Given the description of an element on the screen output the (x, y) to click on. 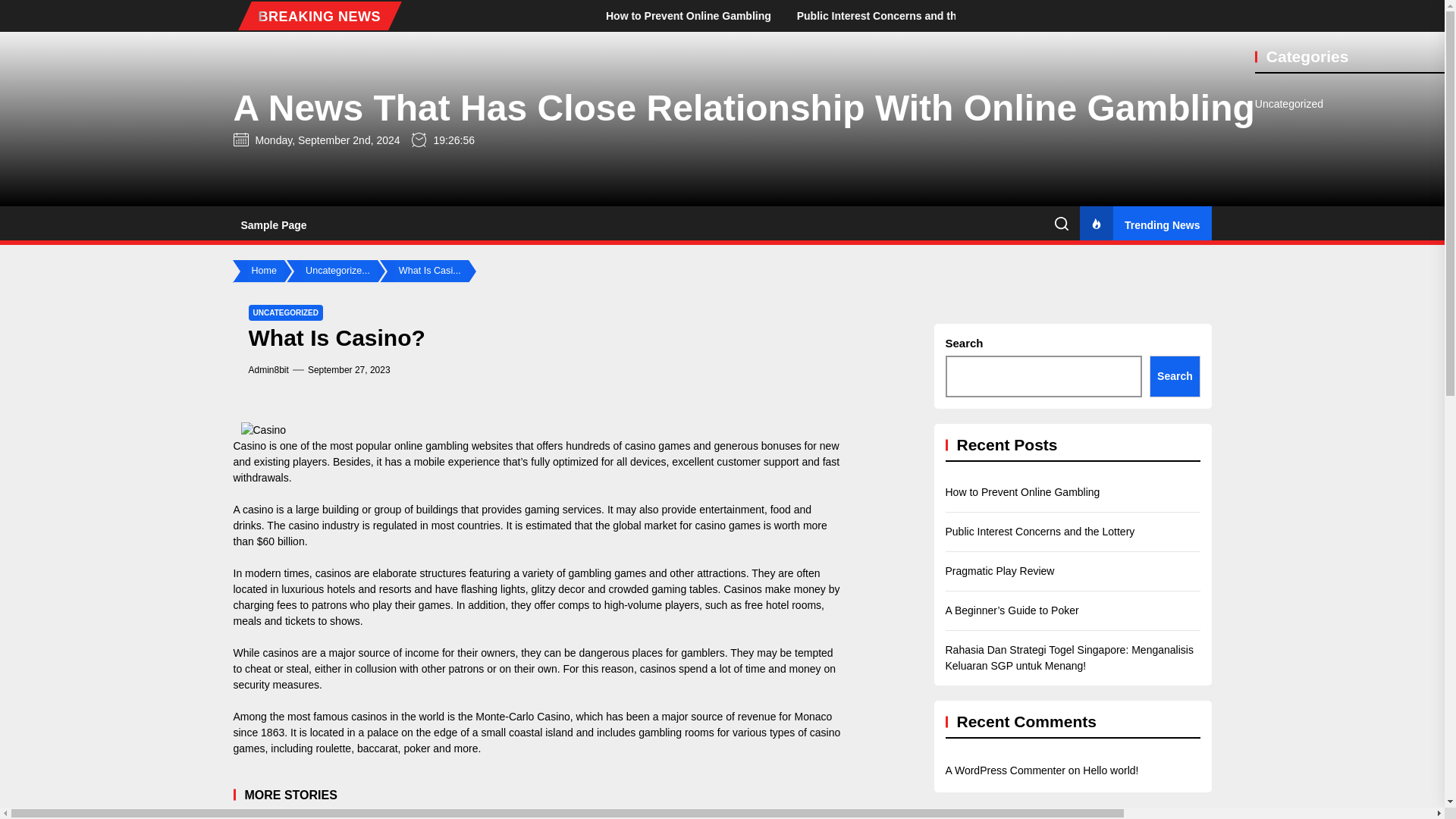
Uncategorized (1289, 104)
How to Prevent Online Gambling (869, 15)
Sample Page (273, 224)
How to Prevent Online Gambling (1044, 15)
A News That Has Close Relationship With Online Gambling (743, 108)
